Given the description of an element on the screen output the (x, y) to click on. 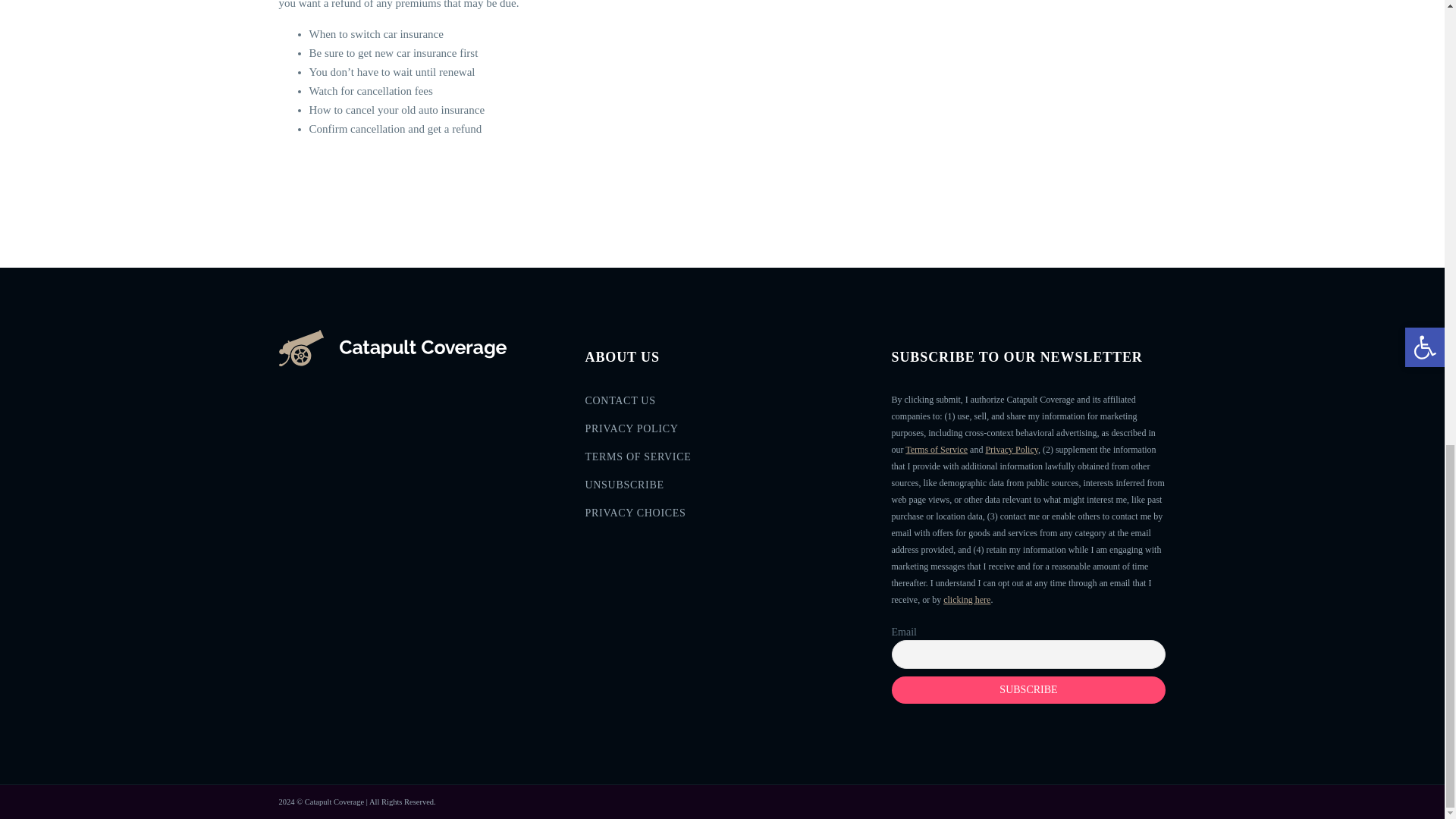
UNSUBSCRIBE (722, 489)
CONTACT US (722, 405)
TERMS OF SERVICE (722, 461)
PRIVACY POLICY (722, 433)
Subscribe (1028, 689)
